Given the description of an element on the screen output the (x, y) to click on. 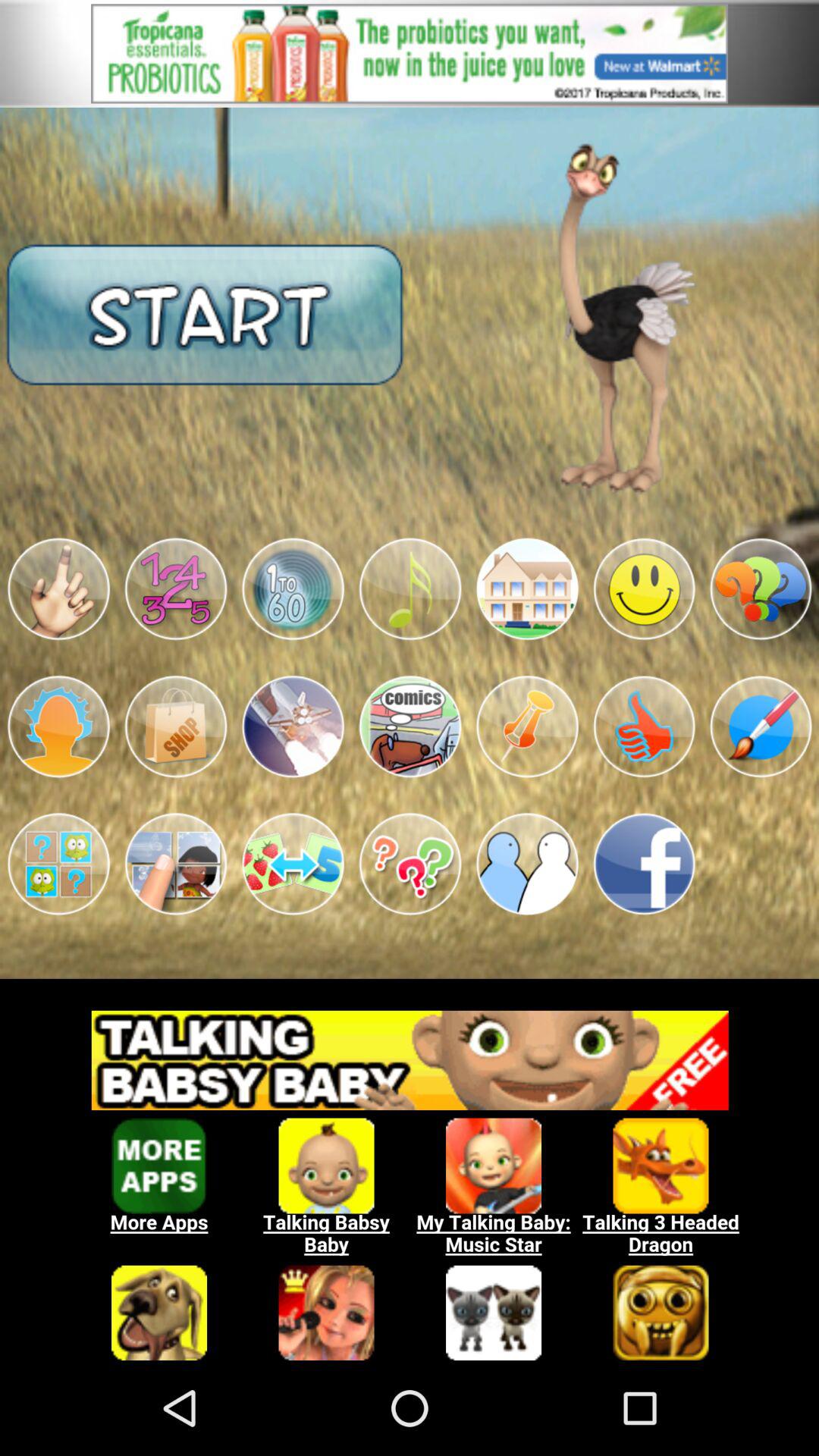
click to start (204, 313)
